Given the description of an element on the screen output the (x, y) to click on. 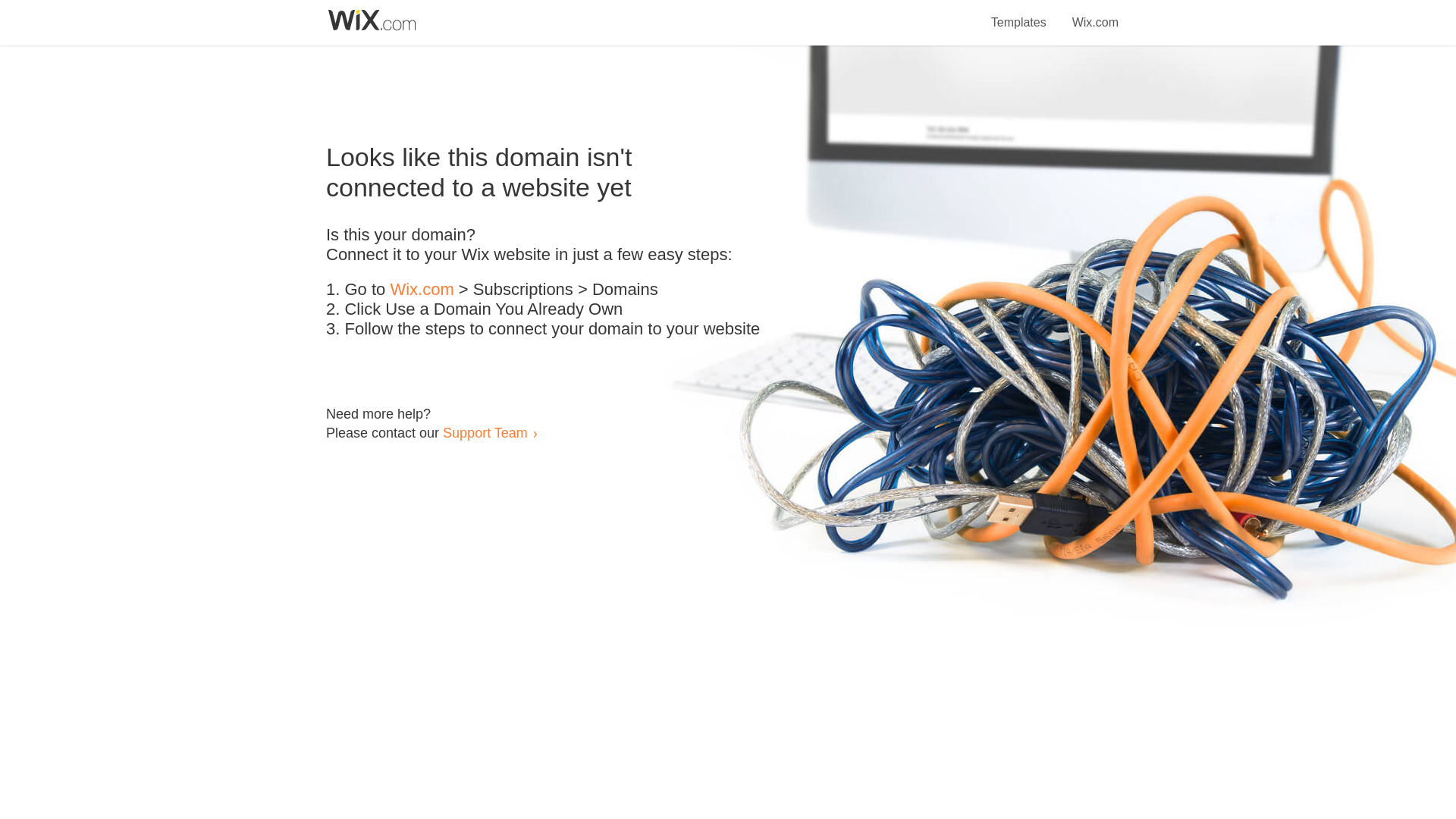
Templates (1018, 14)
Wix.com (421, 289)
Support Team (484, 432)
Wix.com (1095, 14)
